Given the description of an element on the screen output the (x, y) to click on. 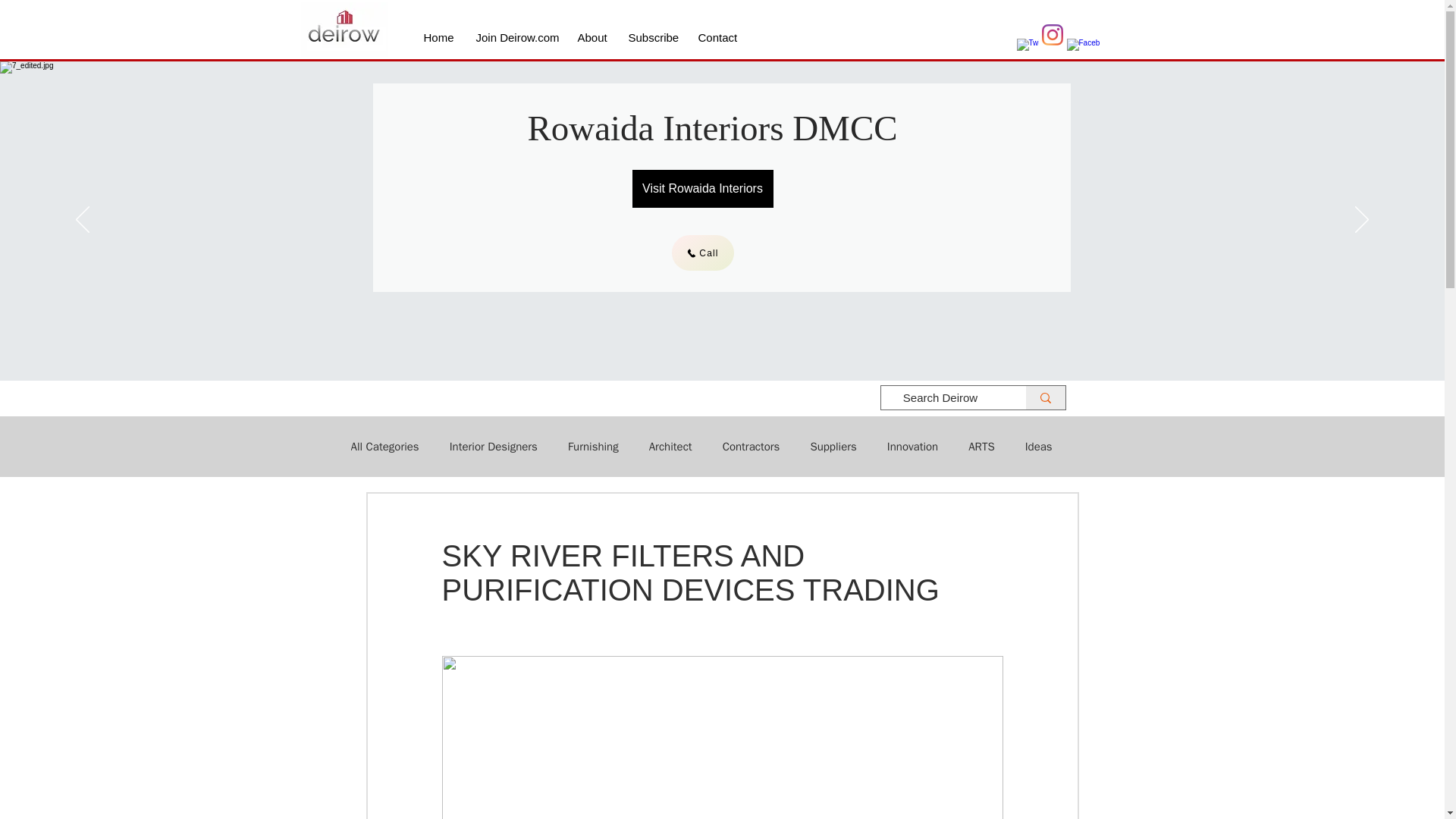
Home (438, 37)
Call (702, 253)
Contractors (751, 446)
Furnishing (592, 446)
ARTS (981, 446)
Join Deirow.com (515, 37)
Interior Designers (493, 446)
Ideas (1038, 446)
Visit Rowaida Interiors (702, 188)
Suppliers (832, 446)
